Given the description of an element on the screen output the (x, y) to click on. 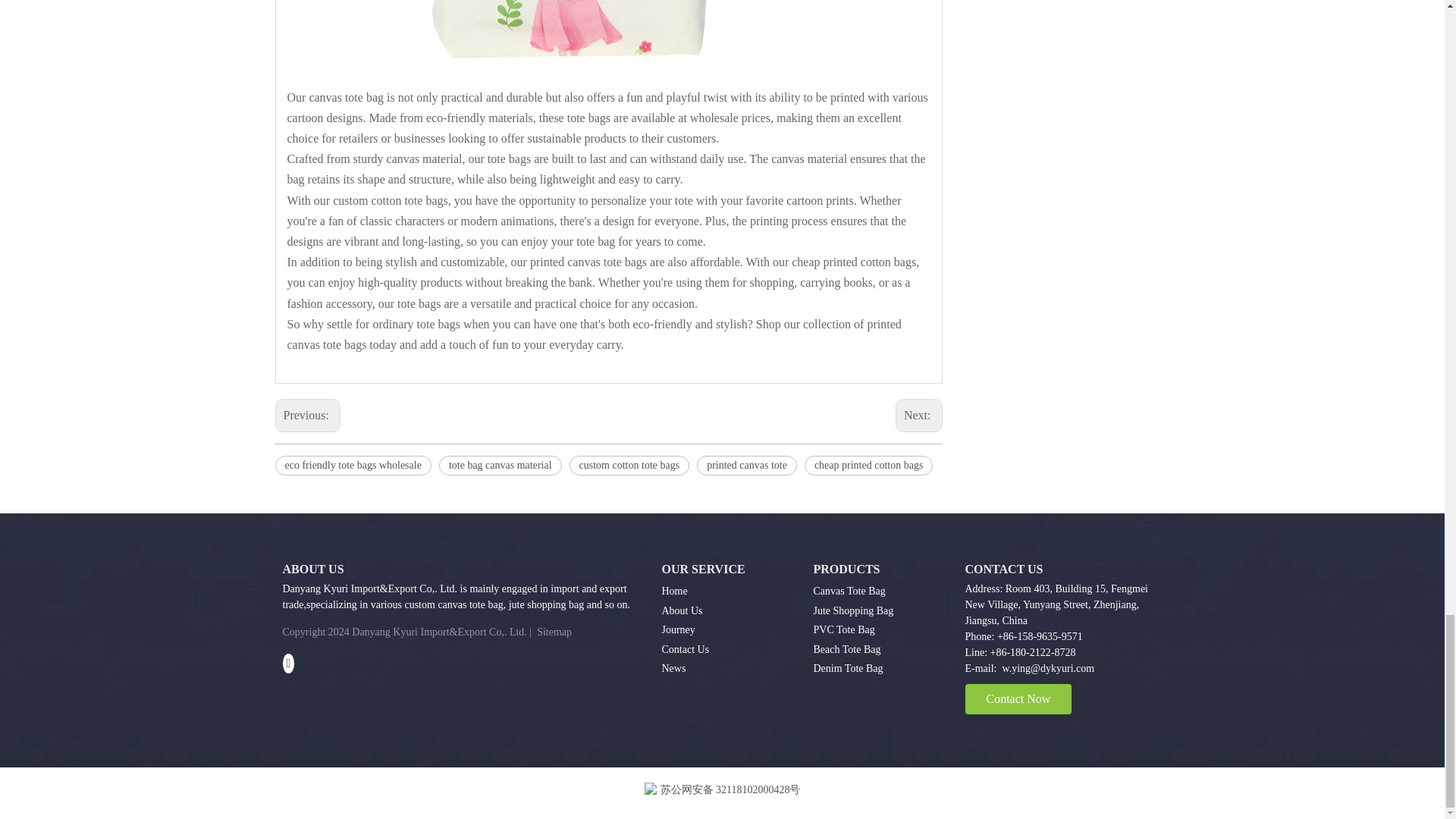
cheap printed cotton bags (869, 465)
tote bag canvas material (500, 465)
Home (674, 591)
Contact Us (685, 649)
tote bag canvas material (500, 465)
News (673, 668)
About Us (681, 610)
Jute Shopping Bag (852, 610)
Facebook (288, 663)
Journey (677, 629)
Journey (677, 629)
Canvas Tote Bag (848, 591)
custom cotton tote bags (629, 465)
eco friendly tote bags wholesale (352, 465)
News (673, 668)
